Given the description of an element on the screen output the (x, y) to click on. 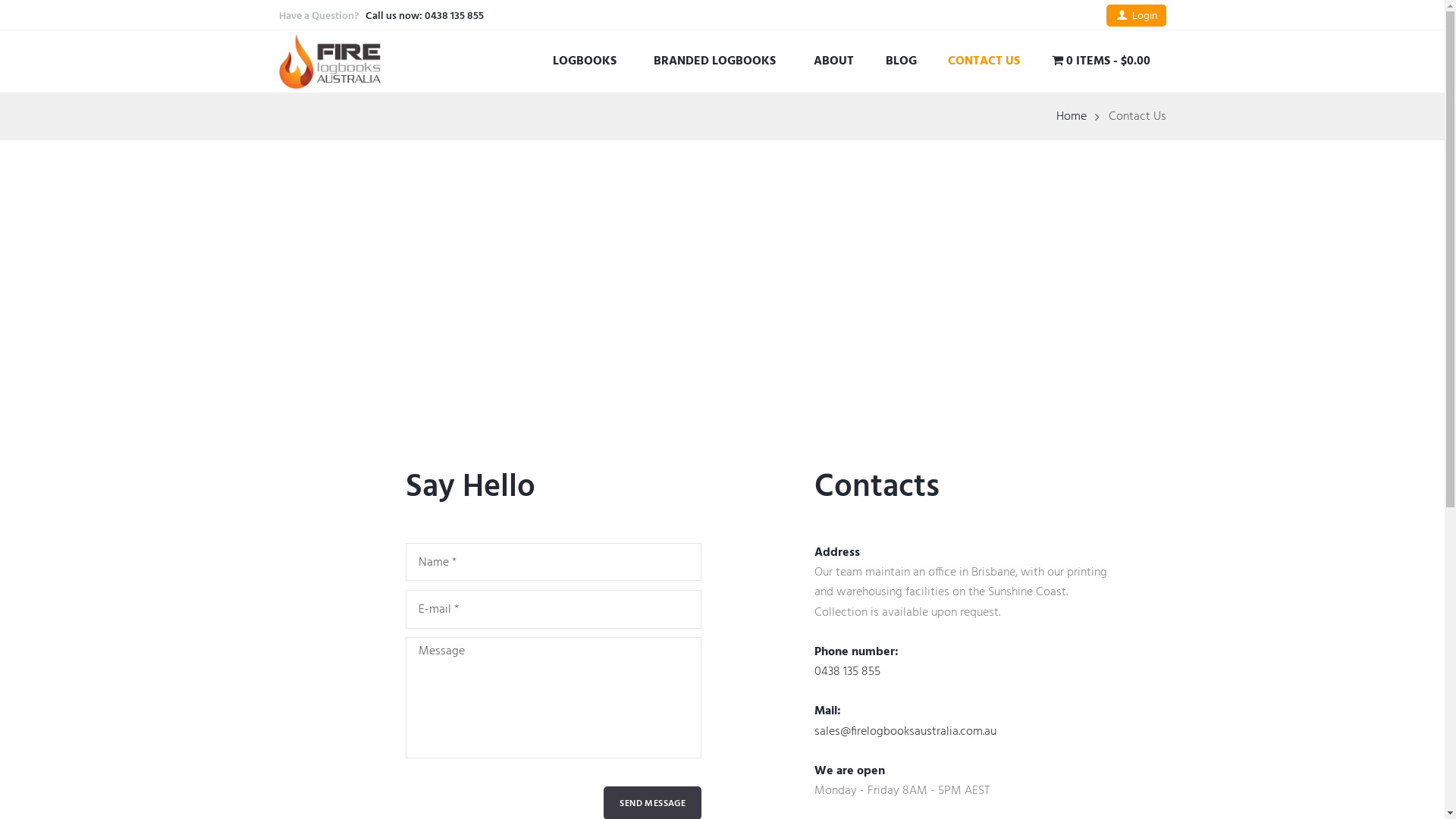
BRANDED LOGBOOKS Element type: text (718, 60)
0438 135 855 Element type: text (847, 671)
Home Element type: text (1071, 116)
ABOUT Element type: text (833, 60)
0 ITEMS$0.00 Element type: text (1100, 60)
BLOG Element type: text (900, 60)
sales@firelogbooksaustralia.com.au Element type: text (905, 731)
LOGBOOKS Element type: text (587, 60)
Call us now: 0438 135 855 Element type: text (424, 16)
Login Element type: text (1136, 15)
CONTACT US Element type: text (983, 60)
